Given the description of an element on the screen output the (x, y) to click on. 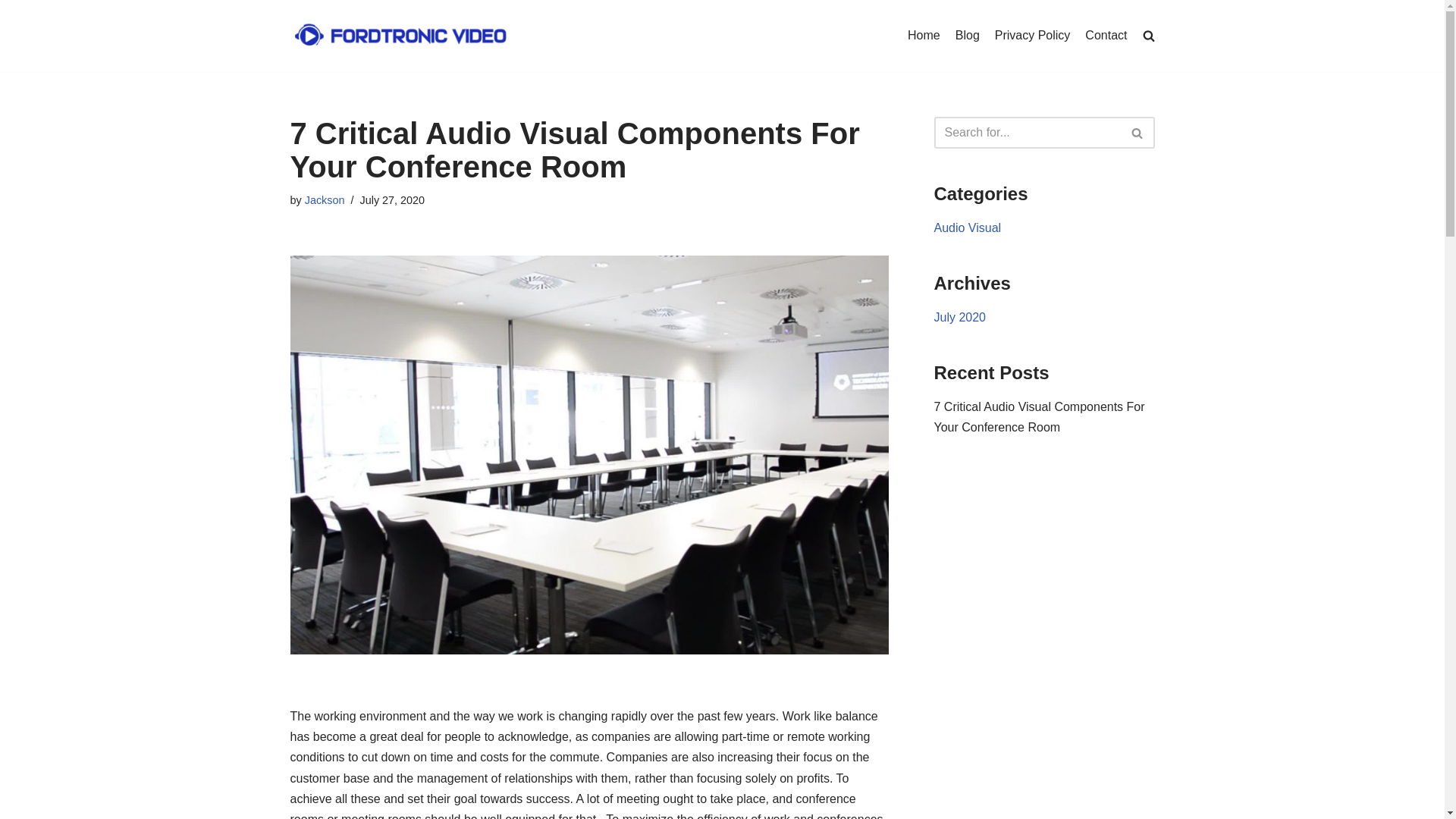
Jackson Element type: text (324, 200)
July 2020 Element type: text (960, 316)
Contact Element type: text (1105, 35)
Skip to content Element type: text (11, 31)
Blog Element type: text (967, 35)
Privacy Policy Element type: text (1032, 35)
Home Element type: text (923, 35)
Fordtronic Video Element type: hover (398, 35)
7 Critical Audio Visual Components For Your Conference Room Element type: text (1039, 416)
Audio Visual Element type: text (967, 227)
